Given the description of an element on the screen output the (x, y) to click on. 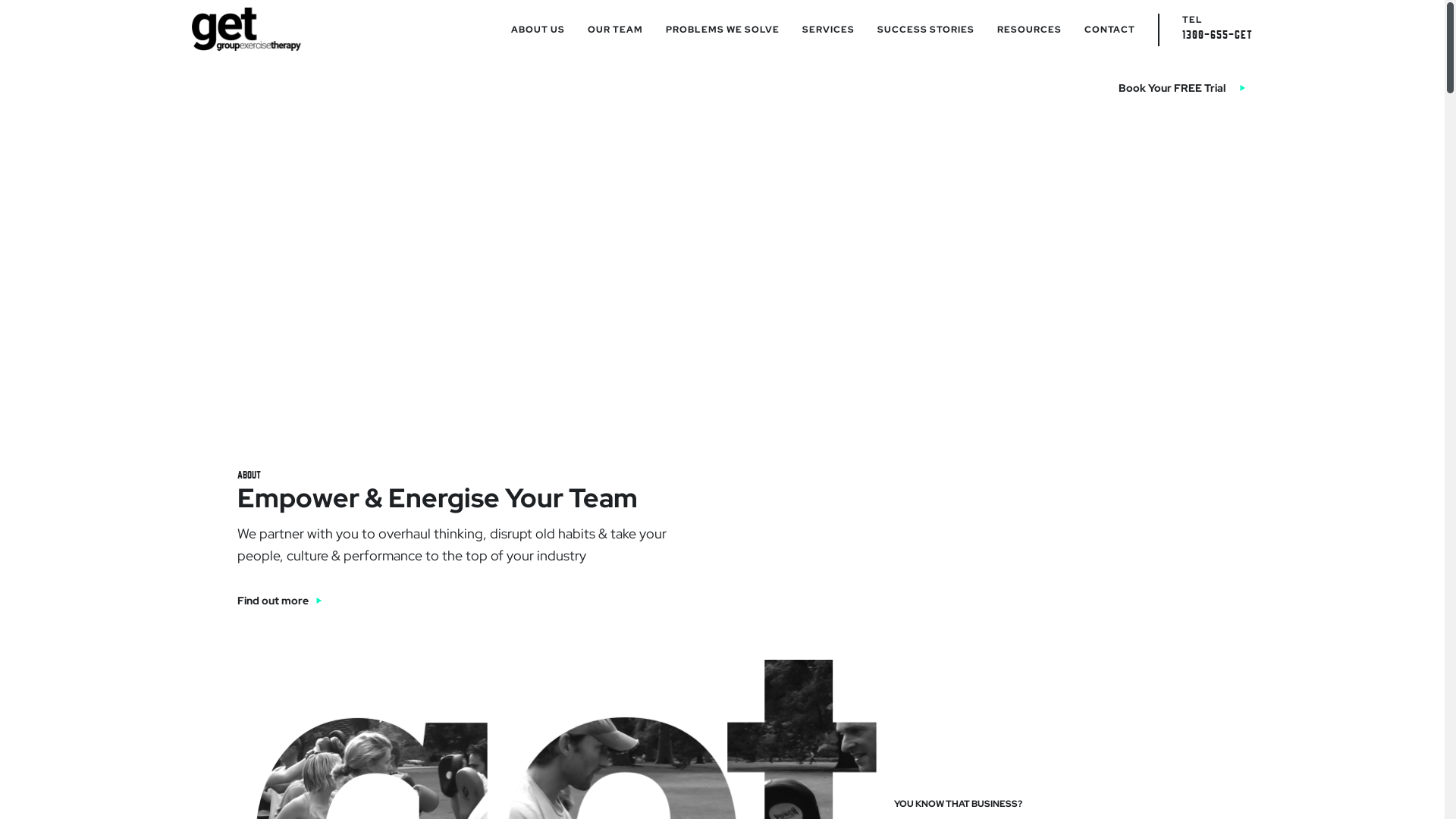
RESOURCES Element type: text (1029, 29)
OUR TEAM Element type: text (615, 29)
ABOUT US Element type: text (537, 29)
CONTACT Element type: text (1109, 29)
PROBLEMS WE SOLVE Element type: text (722, 29)
Book Your FREE Trial Element type: text (1181, 87)
Find out more Element type: text (278, 600)
SUCCESS STORIES Element type: text (925, 29)
TEL
1300-655-GET Element type: text (1217, 27)
SERVICES Element type: text (828, 29)
